Given the description of an element on the screen output the (x, y) to click on. 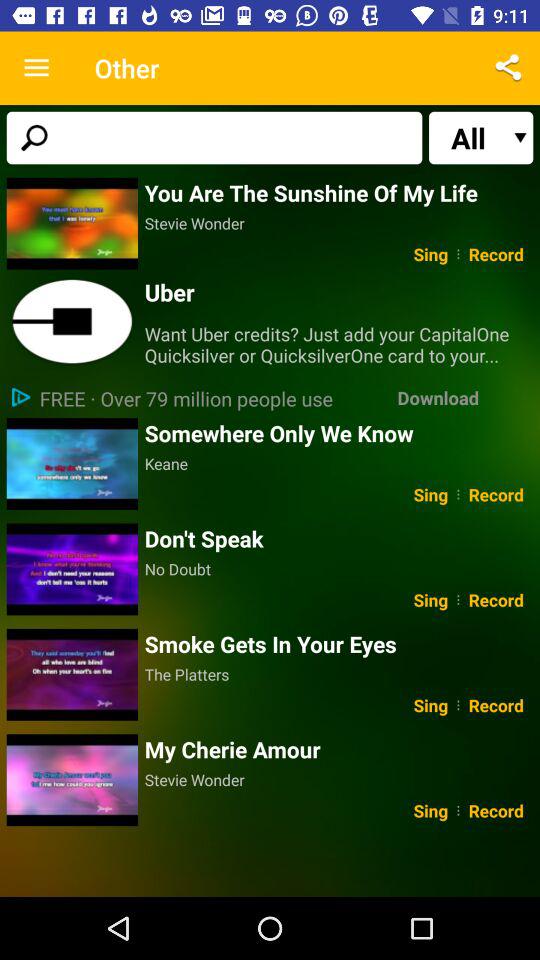
turn off icon above the no doubt (338, 538)
